Given the description of an element on the screen output the (x, y) to click on. 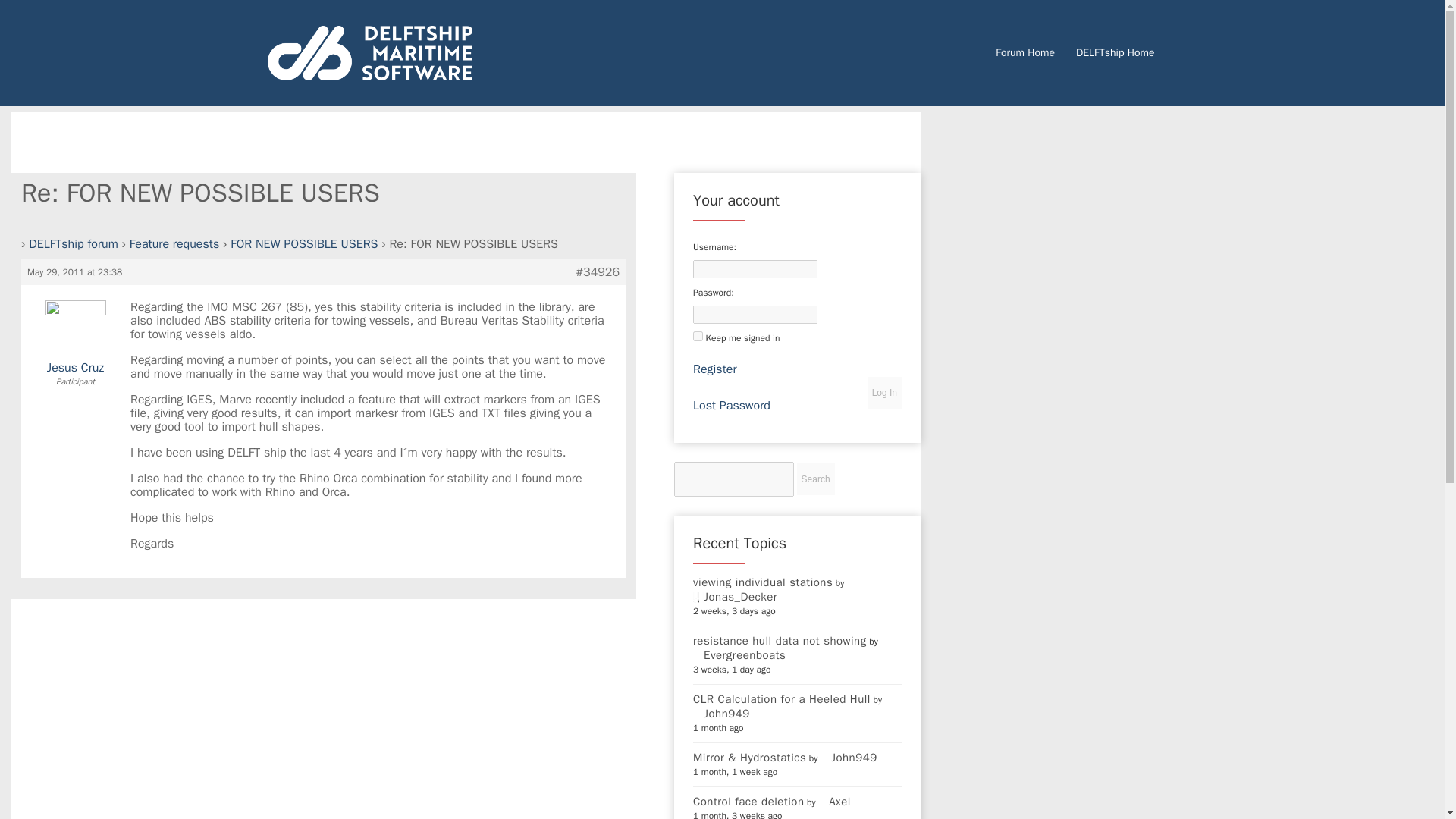
Search (815, 479)
viewing individual stations (762, 581)
View Evergreenboats's profile (739, 654)
Lost Password (731, 405)
John949 (849, 757)
View Axel's profile (834, 801)
Register (714, 369)
Log In (884, 392)
Lost Password (731, 405)
resistance hull data not showing (779, 640)
